Given the description of an element on the screen output the (x, y) to click on. 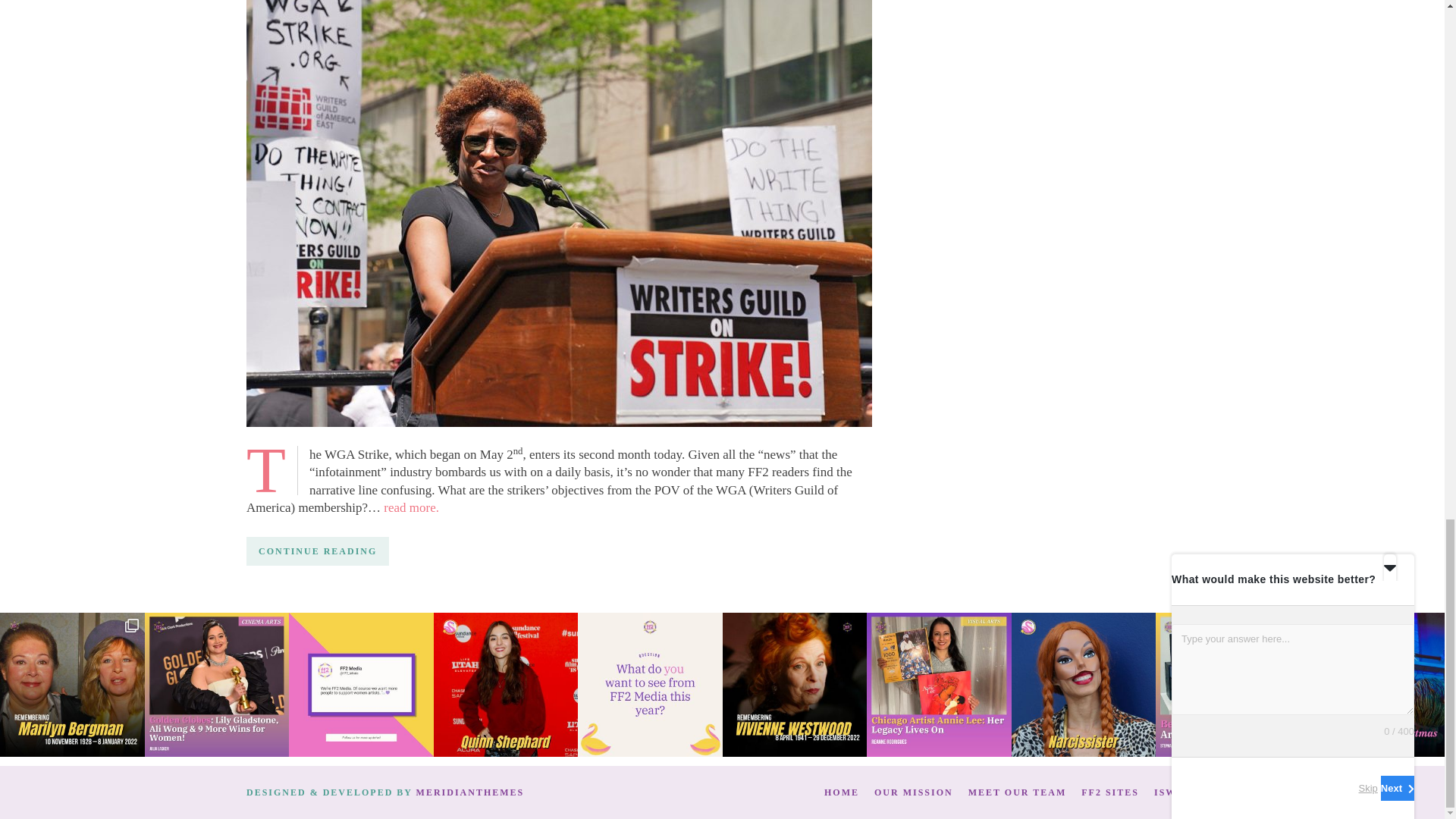
CONTINUE READING (317, 551)
read more. (411, 507)
